Given the description of an element on the screen output the (x, y) to click on. 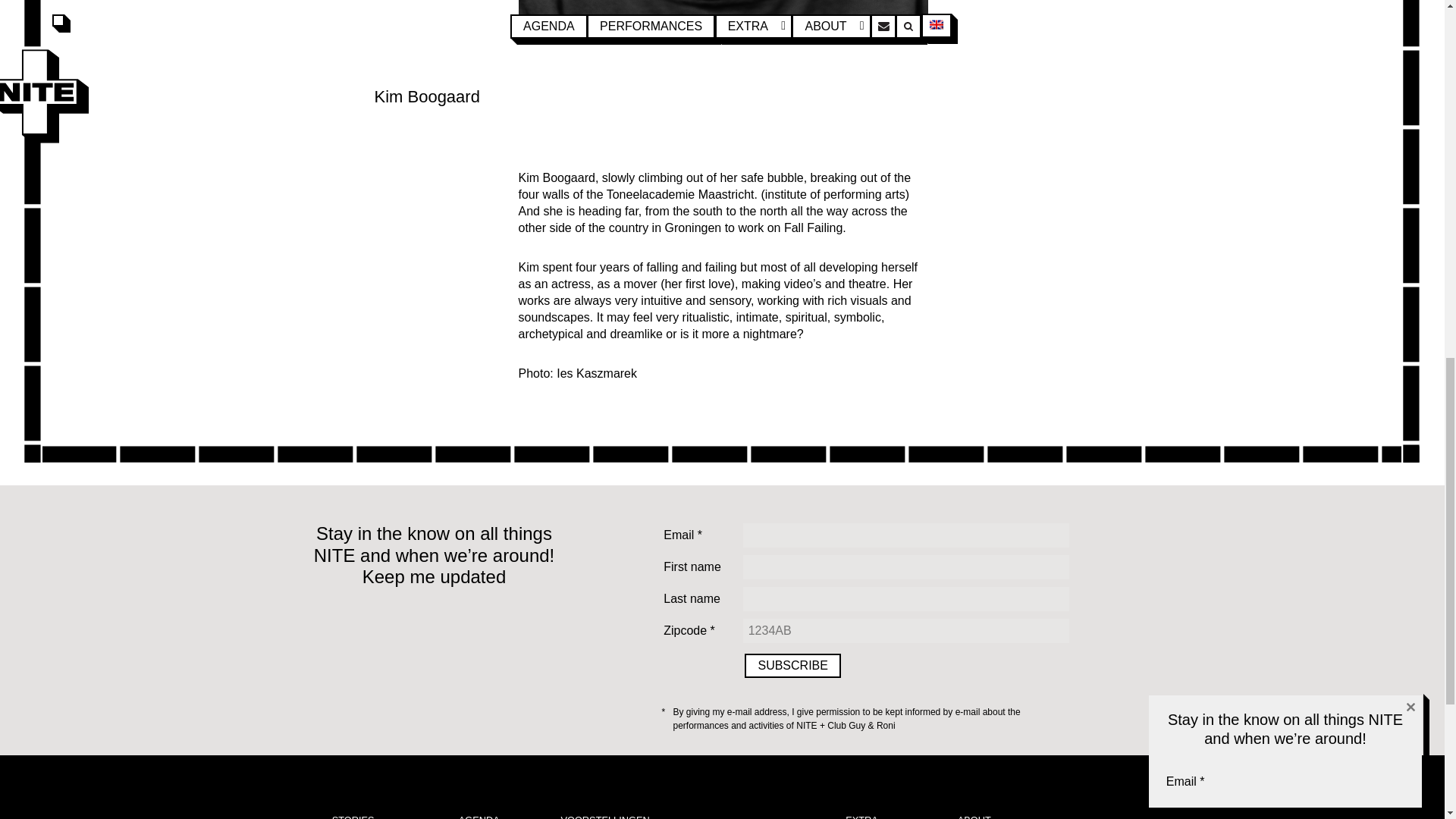
EXTRA (861, 816)
Subscribe (792, 665)
Subscribe (792, 665)
